Given the description of an element on the screen output the (x, y) to click on. 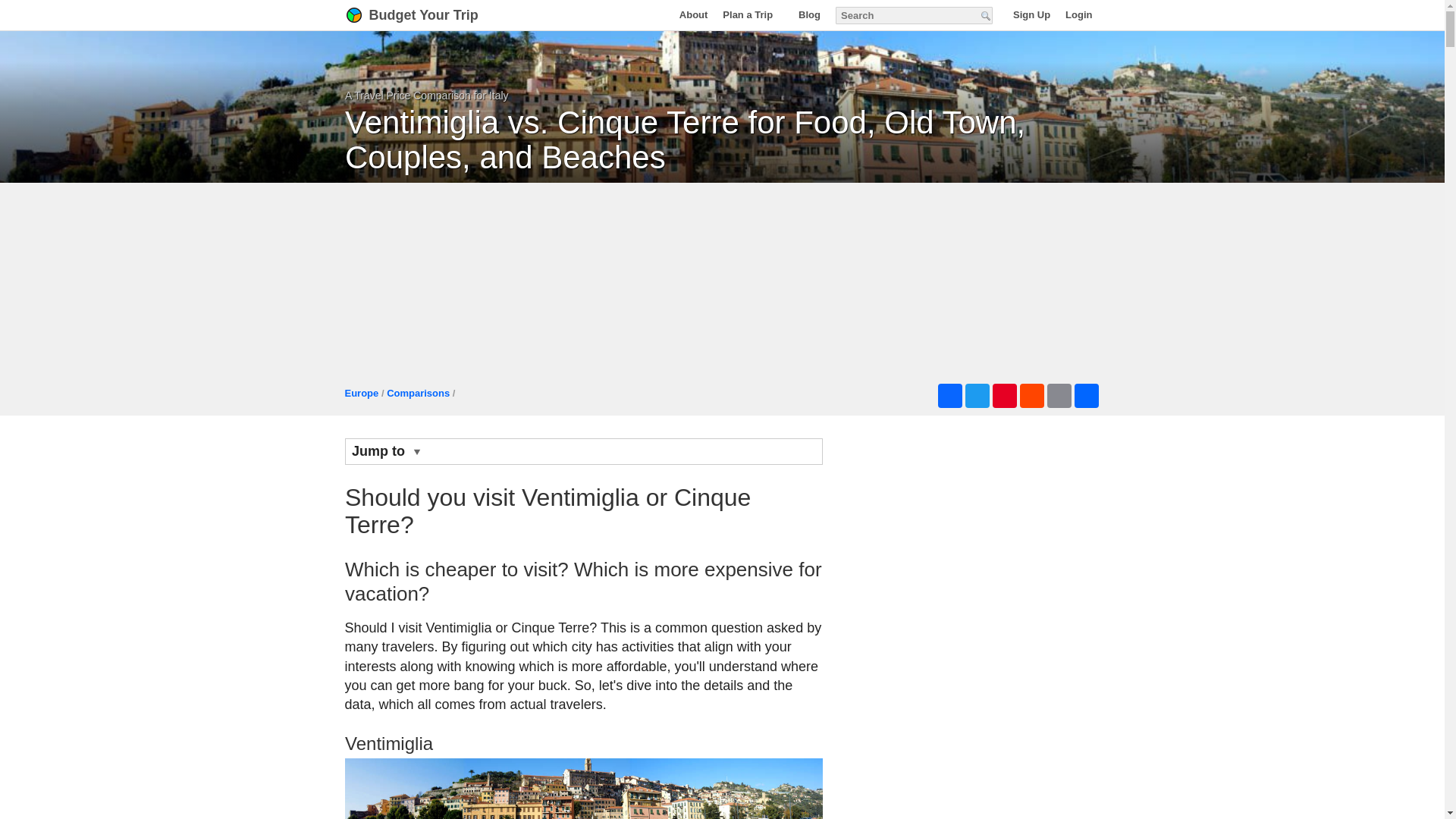
Comparisons (418, 392)
Twitter (976, 395)
Share (1085, 395)
Pinterest (1003, 395)
Budget Your Trip (431, 14)
Facebook (949, 395)
Email (1058, 395)
About (693, 14)
Plan a Trip (752, 14)
Sign Up (1031, 14)
